Given the description of an element on the screen output the (x, y) to click on. 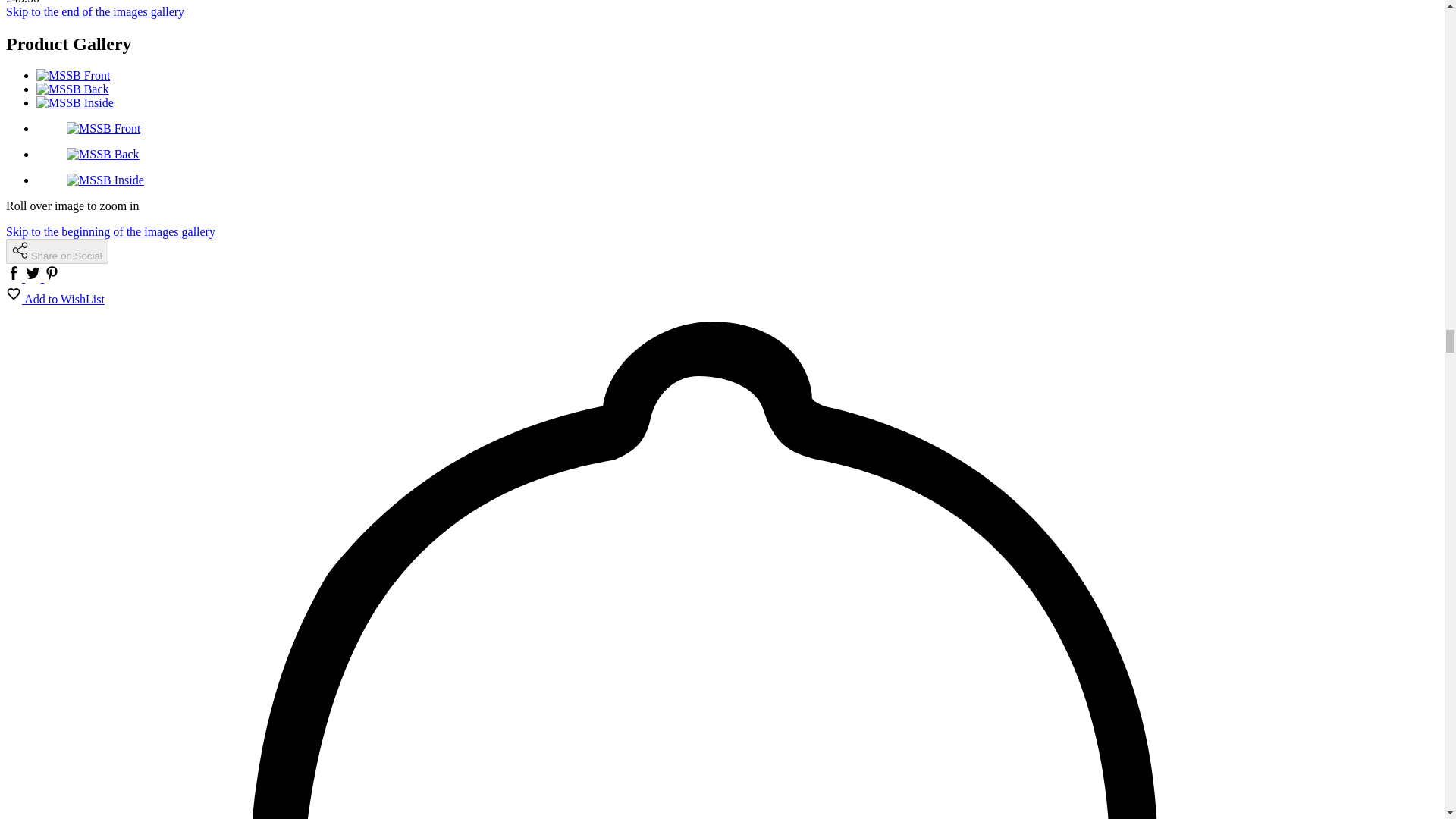
MSSB Front (73, 74)
MSSB Back (102, 154)
Share On Pinterest (51, 277)
Share On Twitter (33, 277)
Share On Facebook (14, 277)
MSSB Back (72, 88)
MSSB Inside (74, 102)
MSSB Front (102, 128)
MSSB Inside (105, 179)
